Given the description of an element on the screen output the (x, y) to click on. 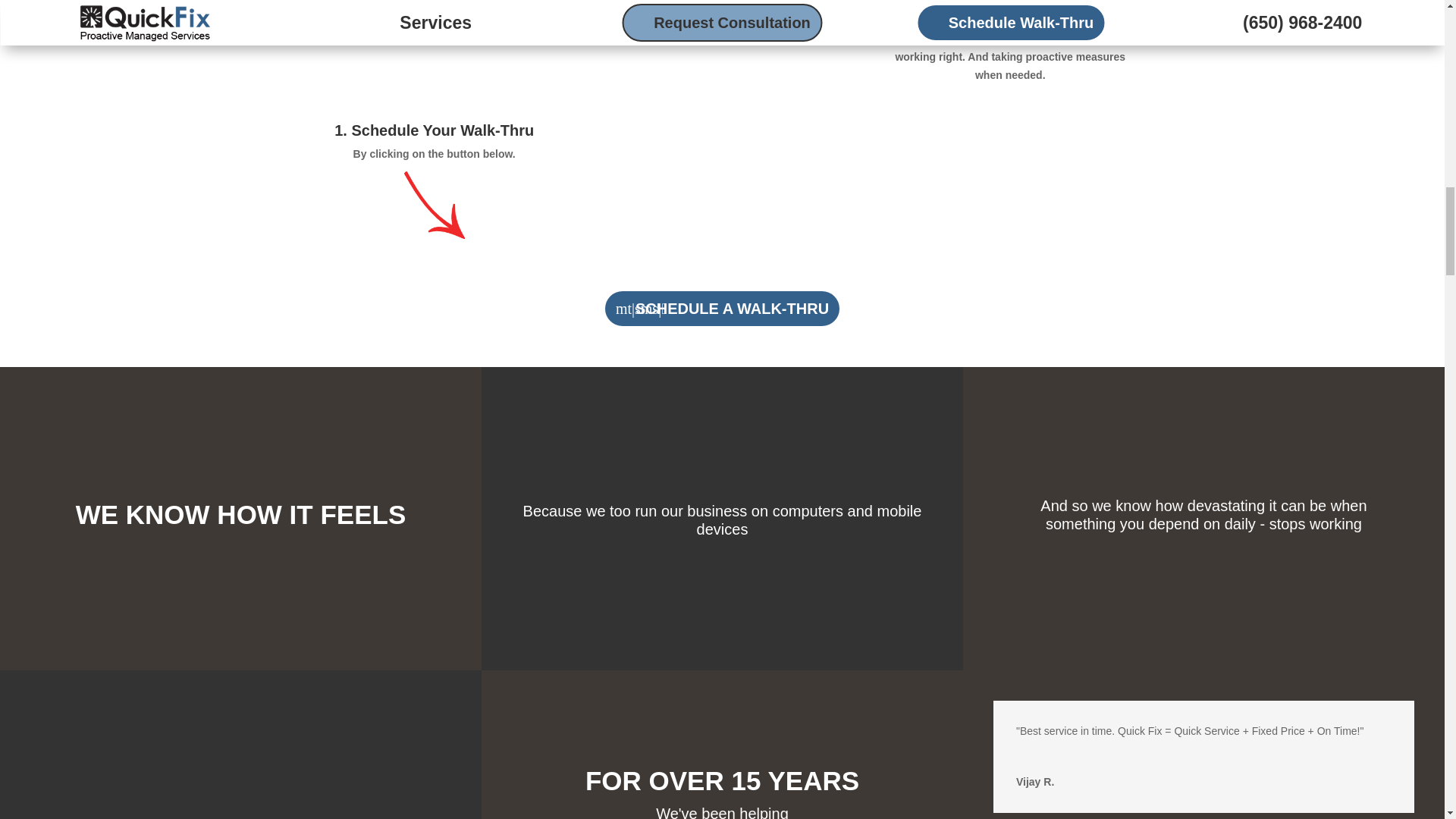
SCHEDULE A WALK-THRU (722, 308)
